Given the description of an element on the screen output the (x, y) to click on. 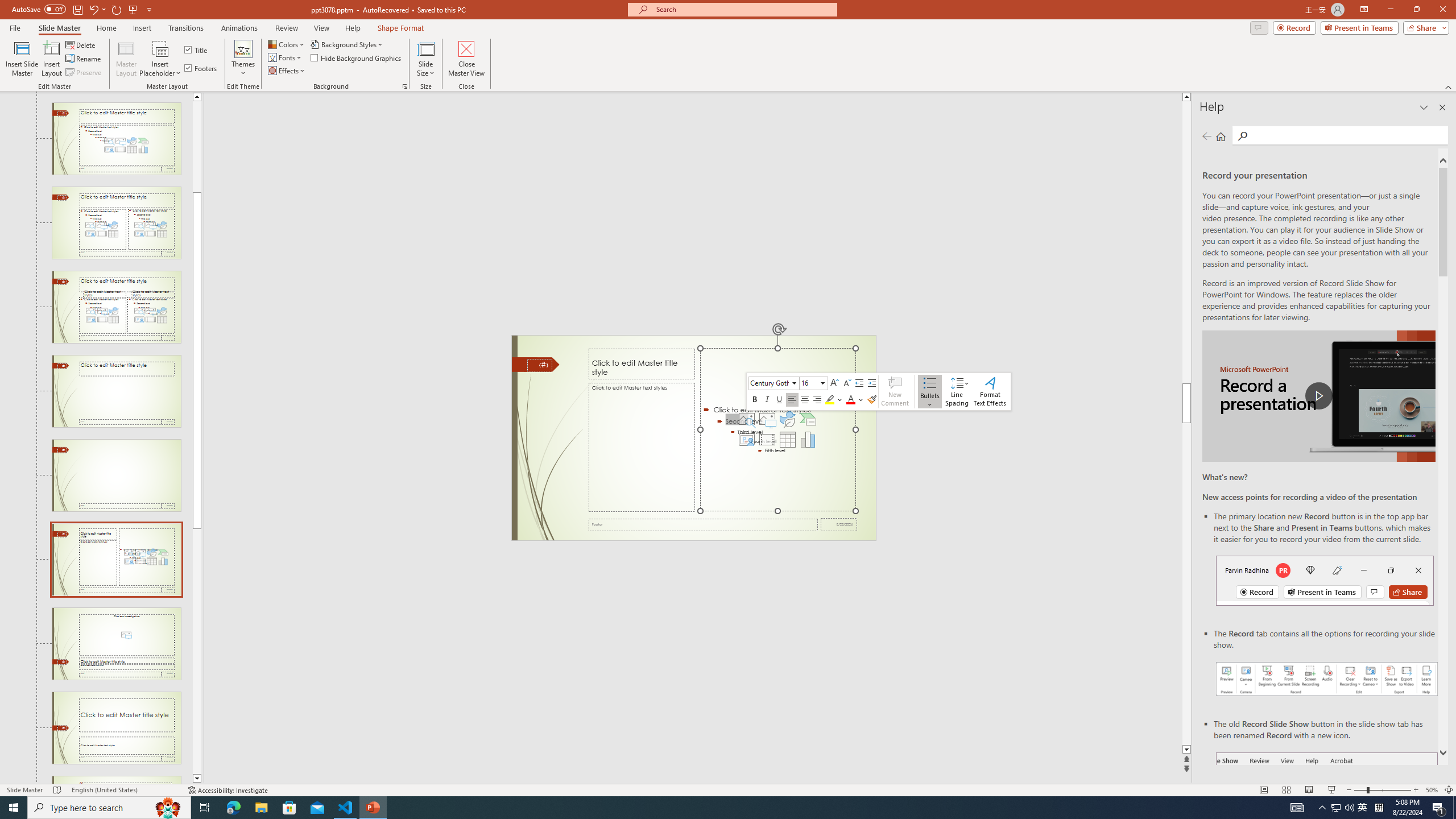
Effects (287, 69)
Title TextBox (641, 363)
Insert an Icon (787, 419)
Insert a SmartArt Graphic (807, 419)
Background Styles (347, 44)
Slide Content with Caption Layout: used by no slides (116, 559)
